Given the description of an element on the screen output the (x, y) to click on. 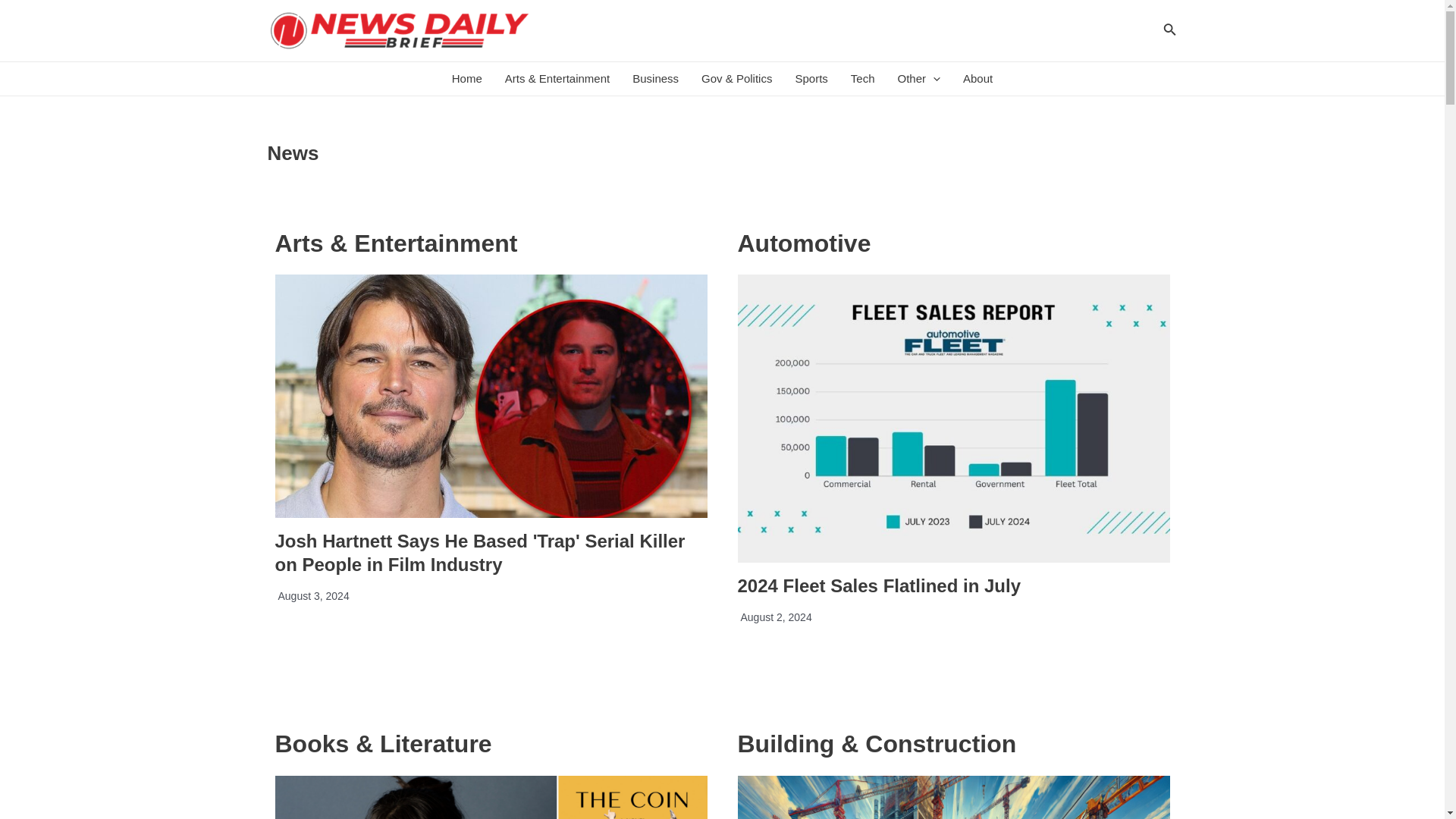
Tech (863, 78)
Sports (810, 78)
Home (467, 78)
Business (655, 78)
About (978, 78)
Other (918, 78)
